Given the description of an element on the screen output the (x, y) to click on. 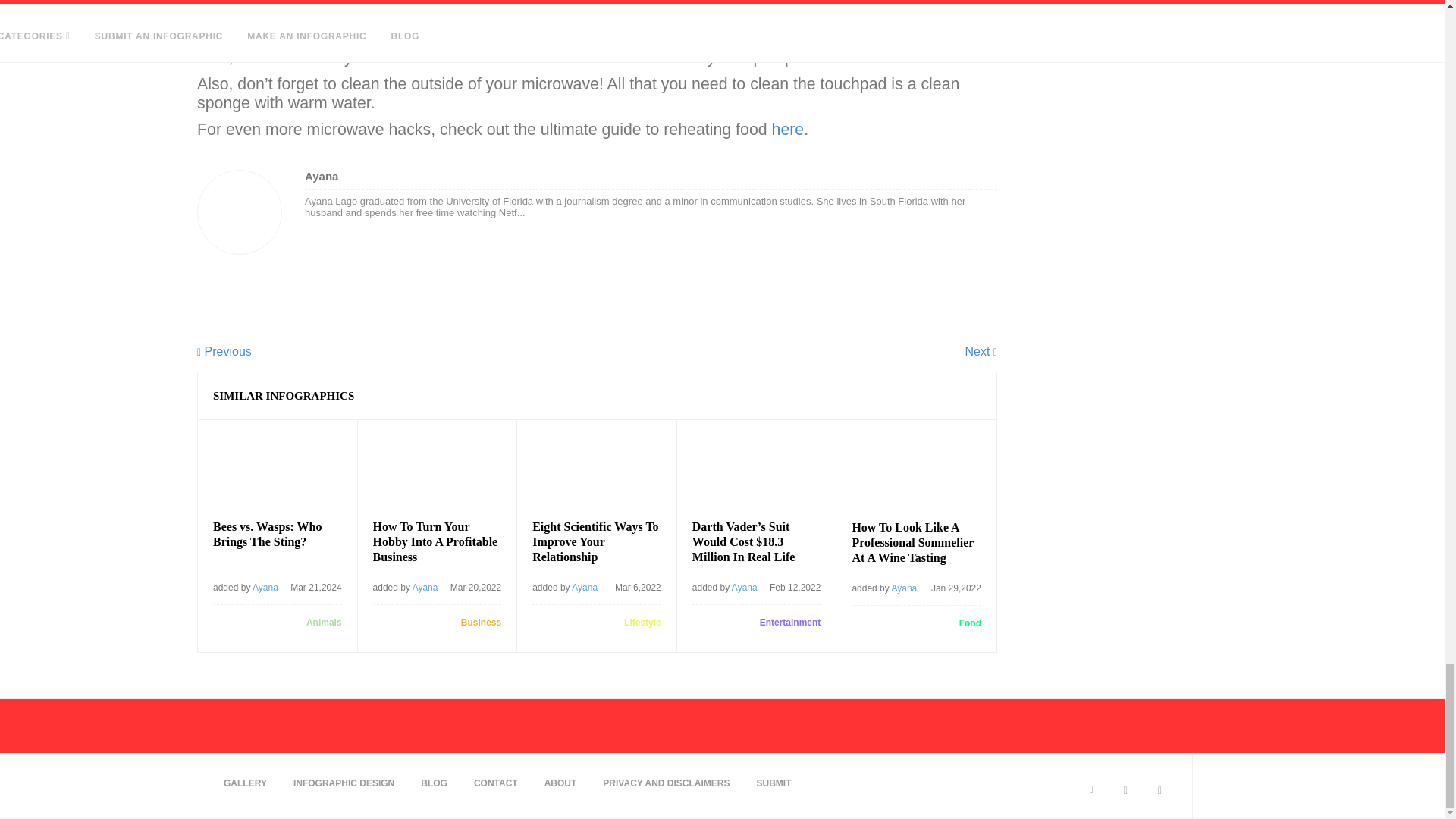
Posts by Ayana (584, 587)
Posts by Ayana (744, 587)
Posts by Ayana (425, 587)
Posts by Ayana (264, 587)
Posts by Ayana (904, 588)
